Given the description of an element on the screen output the (x, y) to click on. 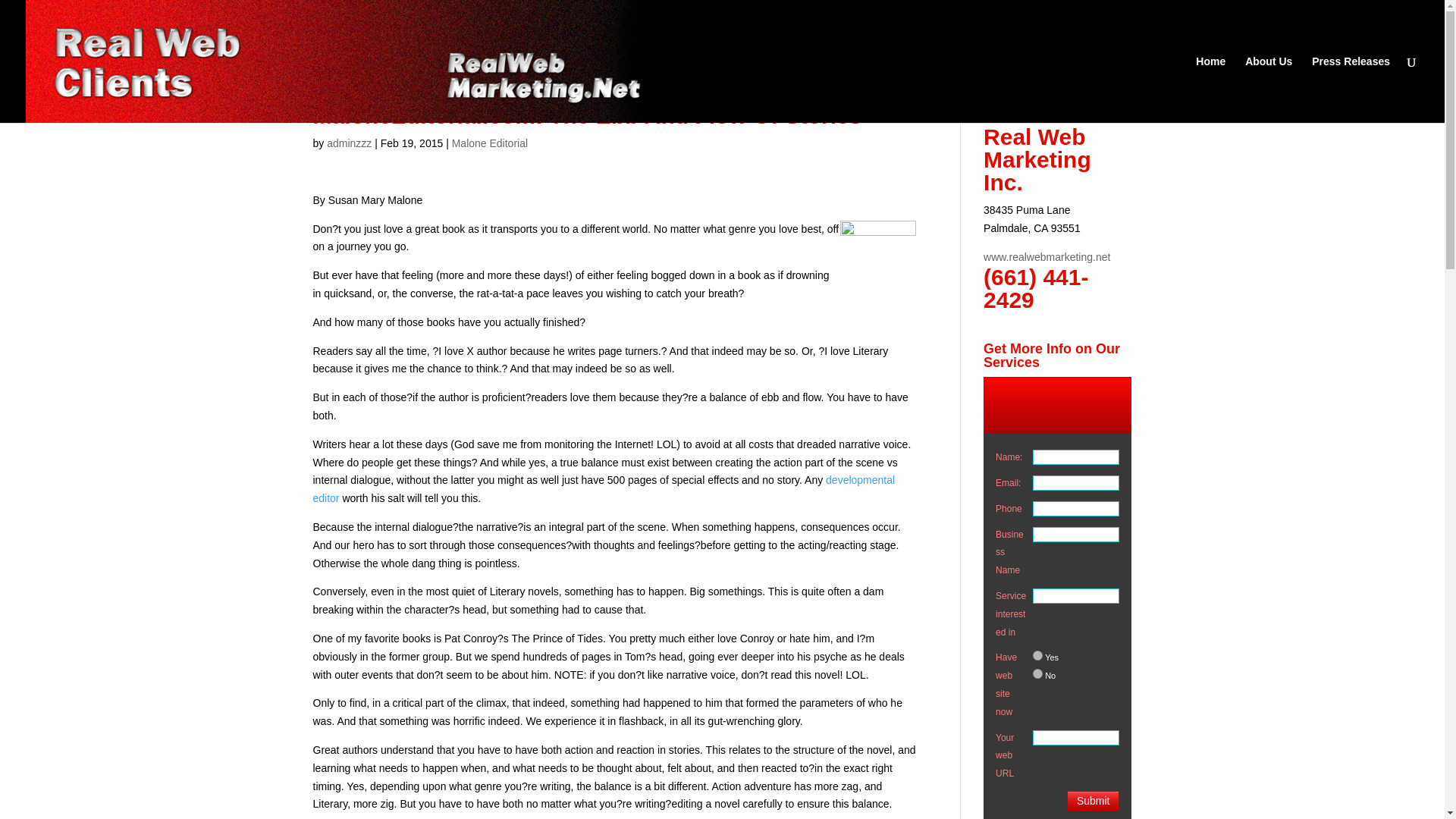
Malone Editorial (489, 143)
Submit (1093, 800)
Posts by adminzzz (348, 143)
Submit (1093, 800)
Yes (1037, 655)
www.realwebmarketing.net (1046, 256)
No (1037, 673)
developmental editor (604, 489)
Press Releases (1350, 89)
adminzzz (348, 143)
